Given the description of an element on the screen output the (x, y) to click on. 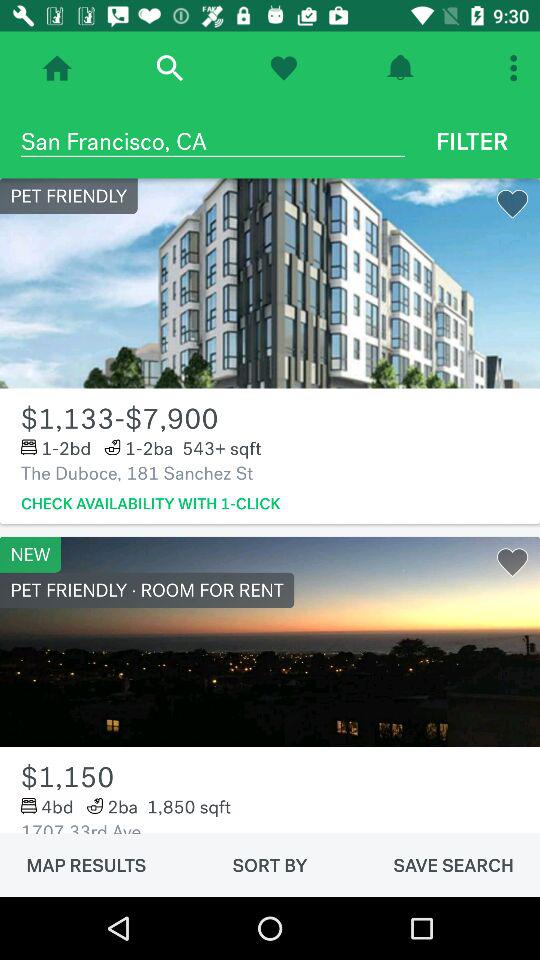
launch the icon next to the sort by (85, 865)
